Given the description of an element on the screen output the (x, y) to click on. 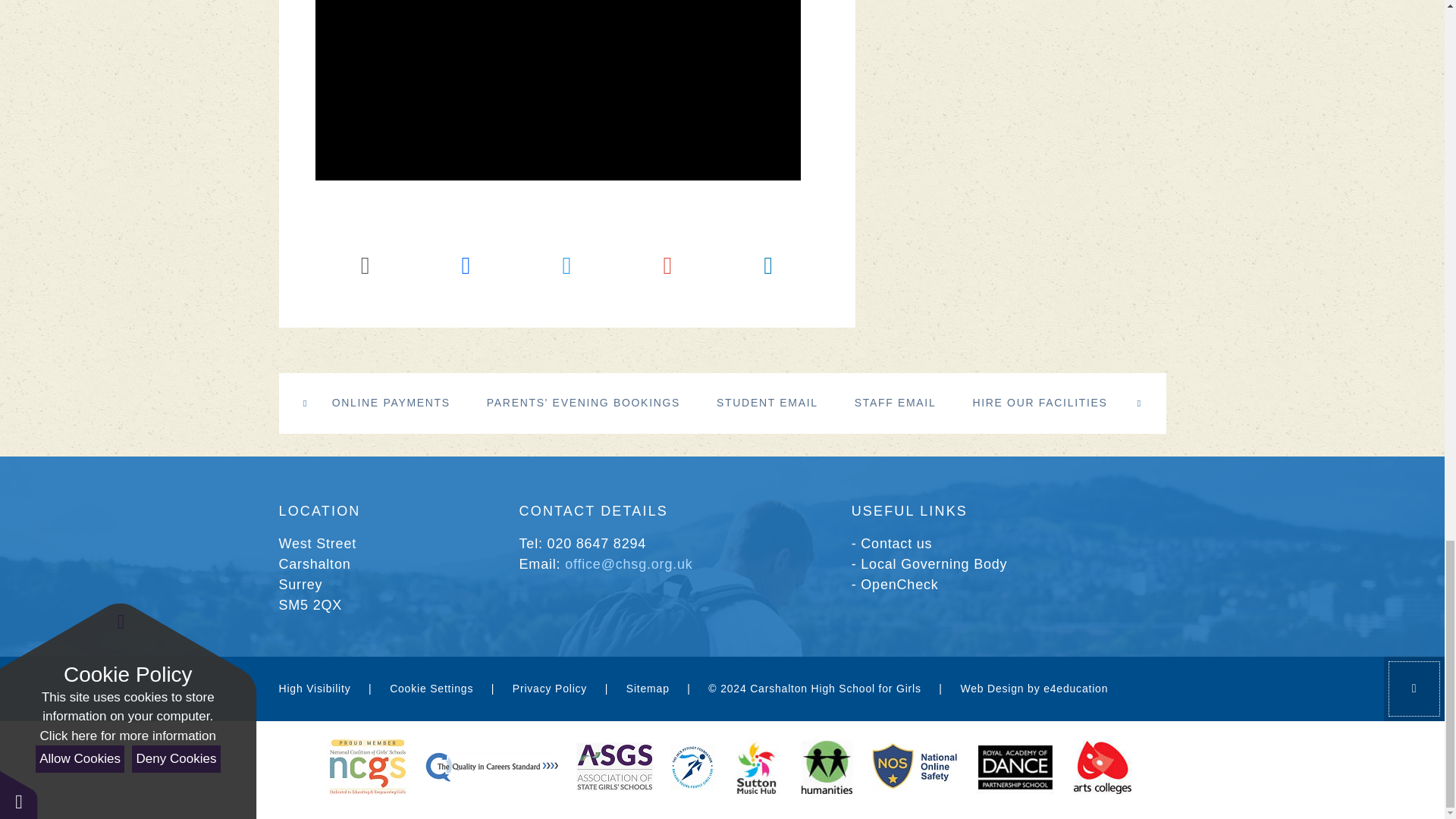
National Online Safety (914, 766)
Quality in Careers (491, 767)
Jack Petchey (691, 767)
NCGS (367, 766)
RAD (1015, 767)
Arts college (1101, 767)
Cookie Settings (431, 688)
Humanities (826, 767)
ASGS (615, 767)
